Given the description of an element on the screen output the (x, y) to click on. 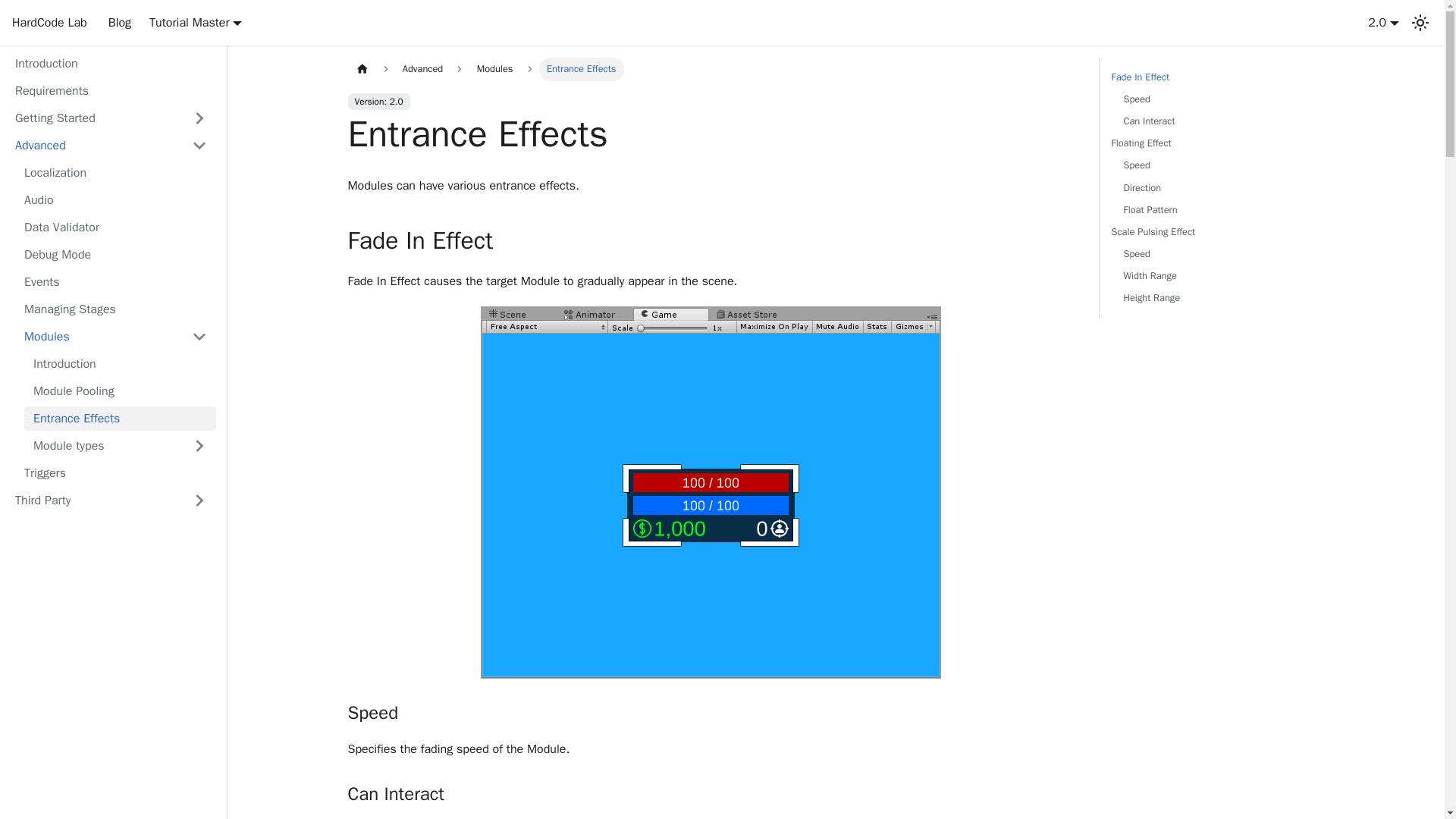
Managing Stages (114, 309)
Requirements (110, 90)
HardCode Lab (49, 22)
Introduction (119, 363)
Entrance Effects (119, 418)
Module Pooling (119, 391)
Tutorial Master (195, 22)
Events (114, 282)
Modules (98, 336)
Data Validator (114, 227)
